Given the description of an element on the screen output the (x, y) to click on. 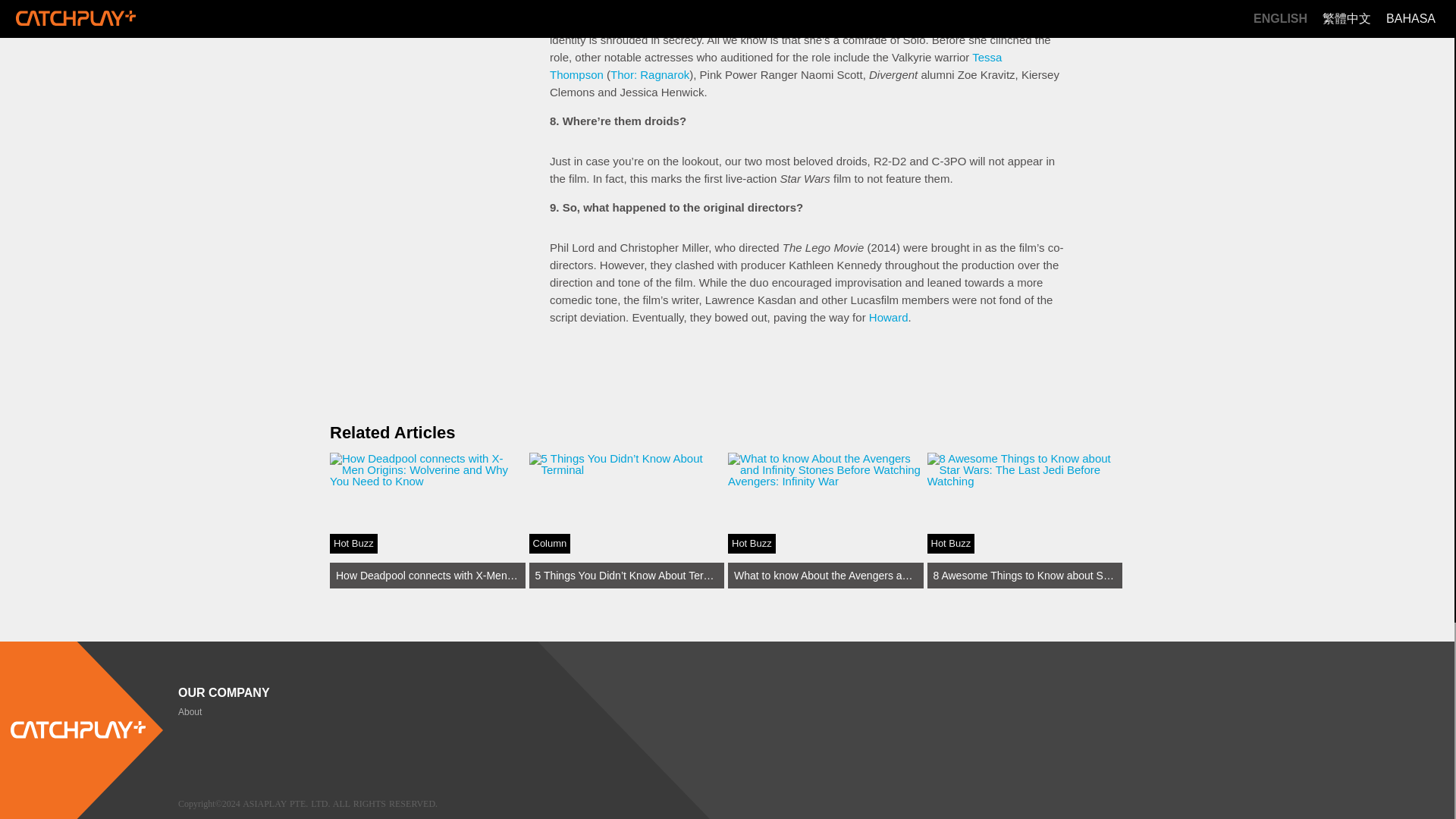
Emilia Clarke (858, 21)
Howard (888, 317)
Thor: Ragnarok (649, 74)
Tessa Thompson (775, 65)
